Given the description of an element on the screen output the (x, y) to click on. 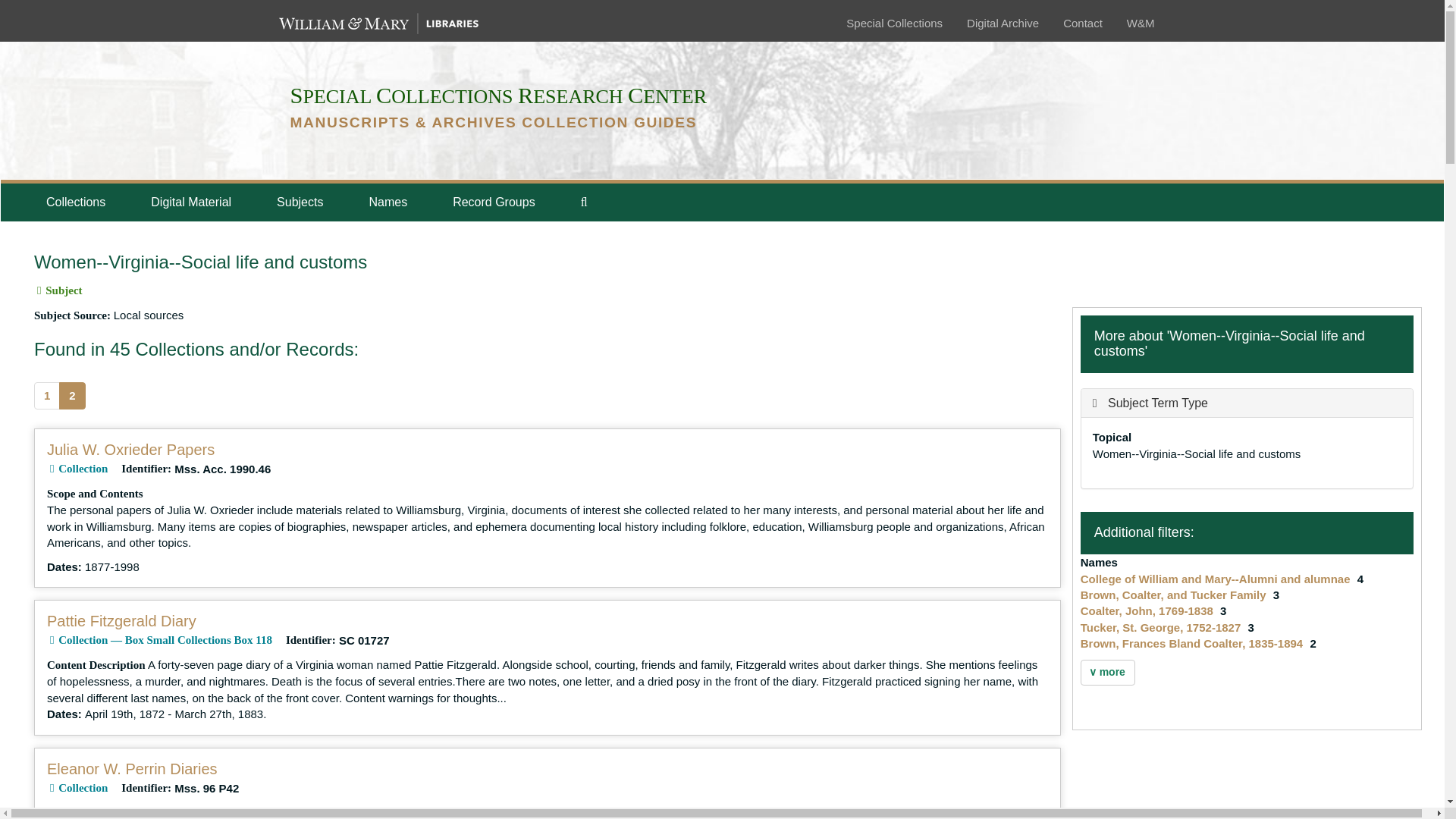
Search The Archives (583, 202)
Eleanor W. Perrin Diaries (131, 768)
Digital Archive (1002, 23)
Filter By 'Coalter, John, 1769-1838' (1147, 610)
Pattie Fitzgerald Diary (121, 620)
Filter By 'College of William and Mary--Alumni and alumnae' (1217, 578)
Special Collections (893, 23)
2 (71, 395)
Collections (75, 202)
Filter By 'Tucker, St. George, 1752-1827' (1162, 626)
Digital Material (190, 202)
SPECIAL COLLECTIONS RESEARCH CENTER (497, 96)
Filter By 'Brown, Frances Bland Coalter, 1835-1894' (1193, 643)
Record Groups (493, 202)
Contact (1082, 23)
